Given the description of an element on the screen output the (x, y) to click on. 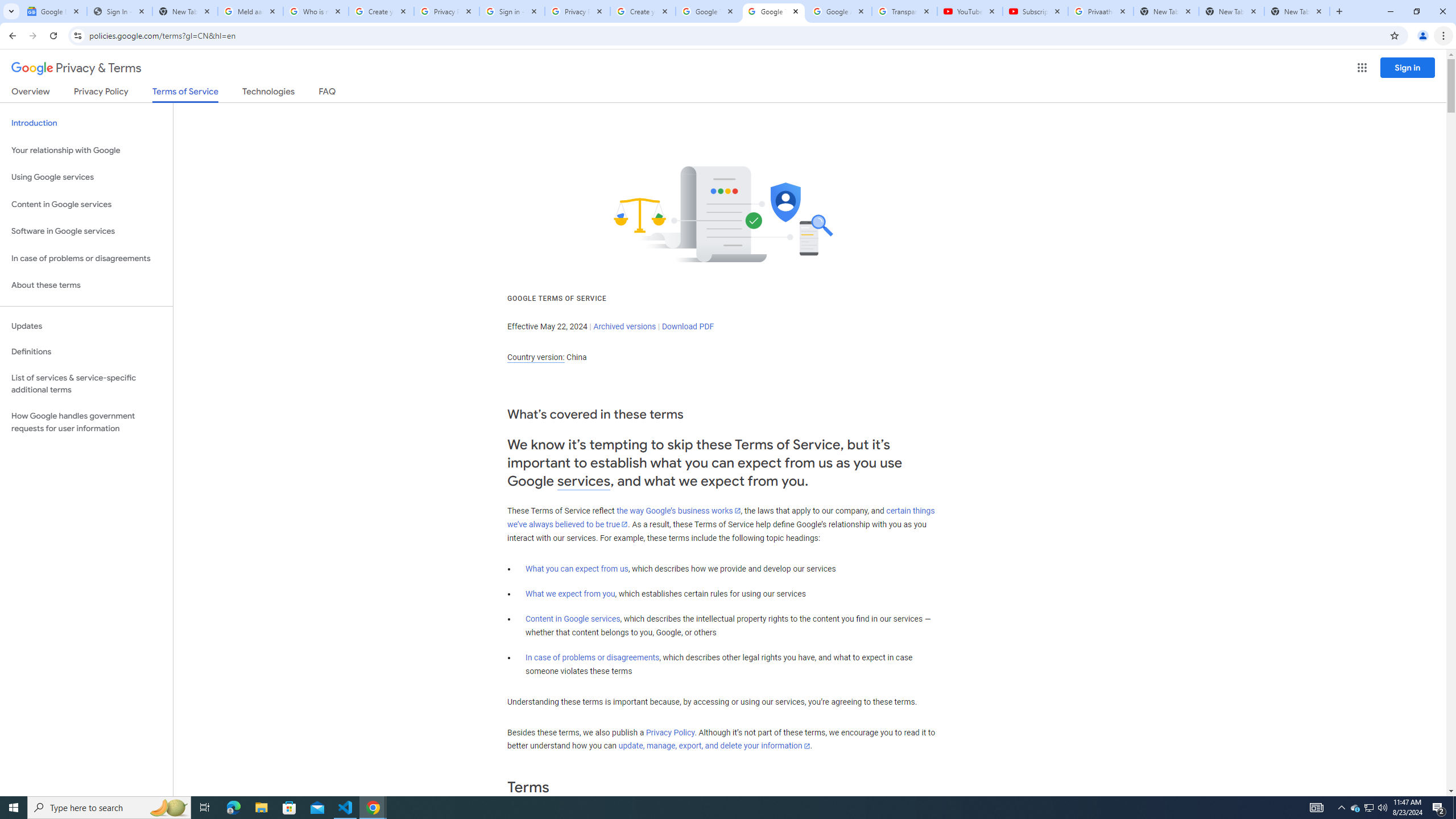
Google News (53, 11)
